Given the description of an element on the screen output the (x, y) to click on. 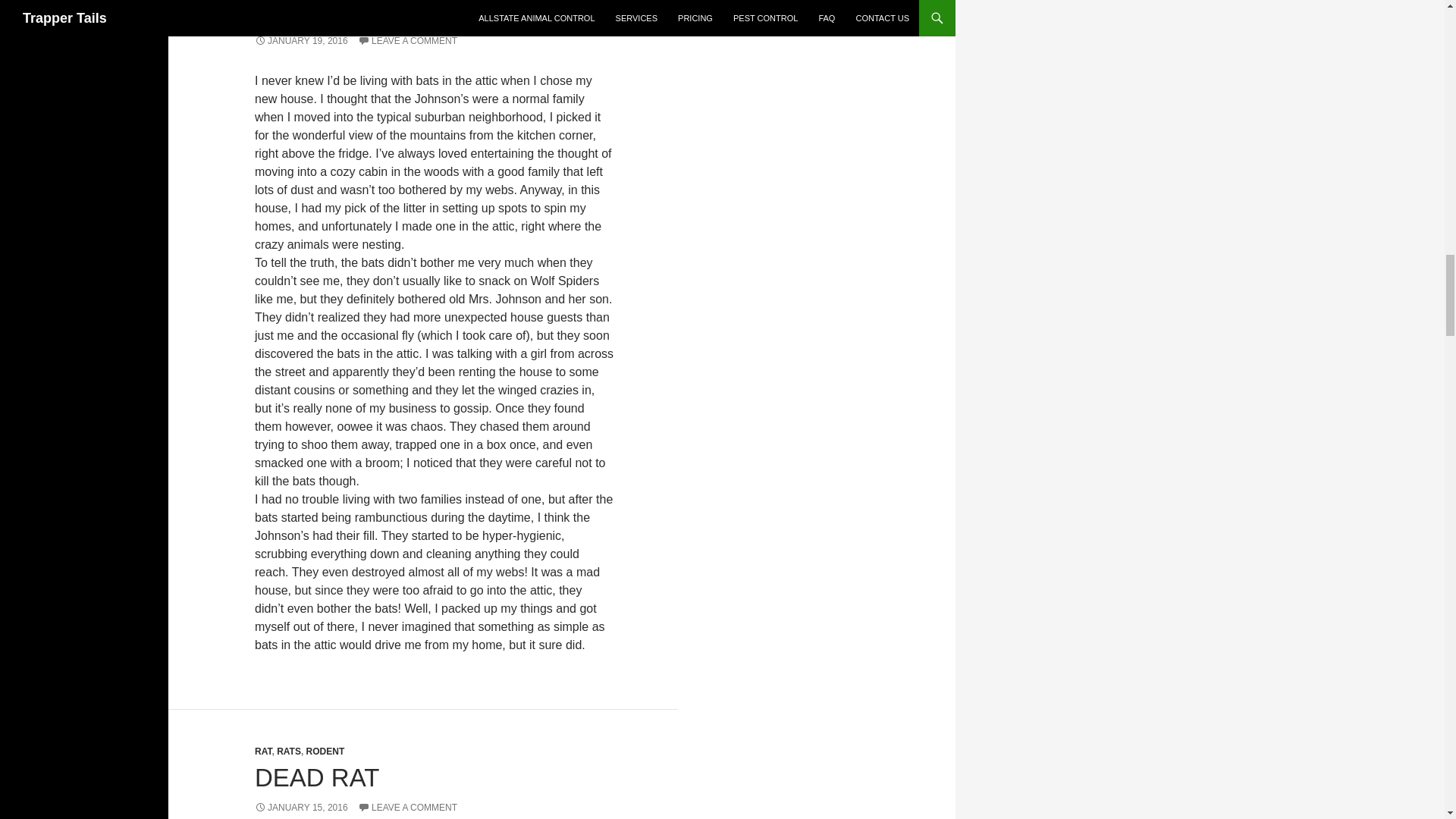
RAT (262, 751)
RATS (288, 751)
BATS IN THE ATTIC (368, 12)
LEAVE A COMMENT (407, 807)
JANUARY 19, 2016 (300, 40)
JANUARY 15, 2016 (300, 807)
DEAD RAT (316, 777)
LEAVE A COMMENT (407, 40)
RODENT (325, 751)
